Given the description of an element on the screen output the (x, y) to click on. 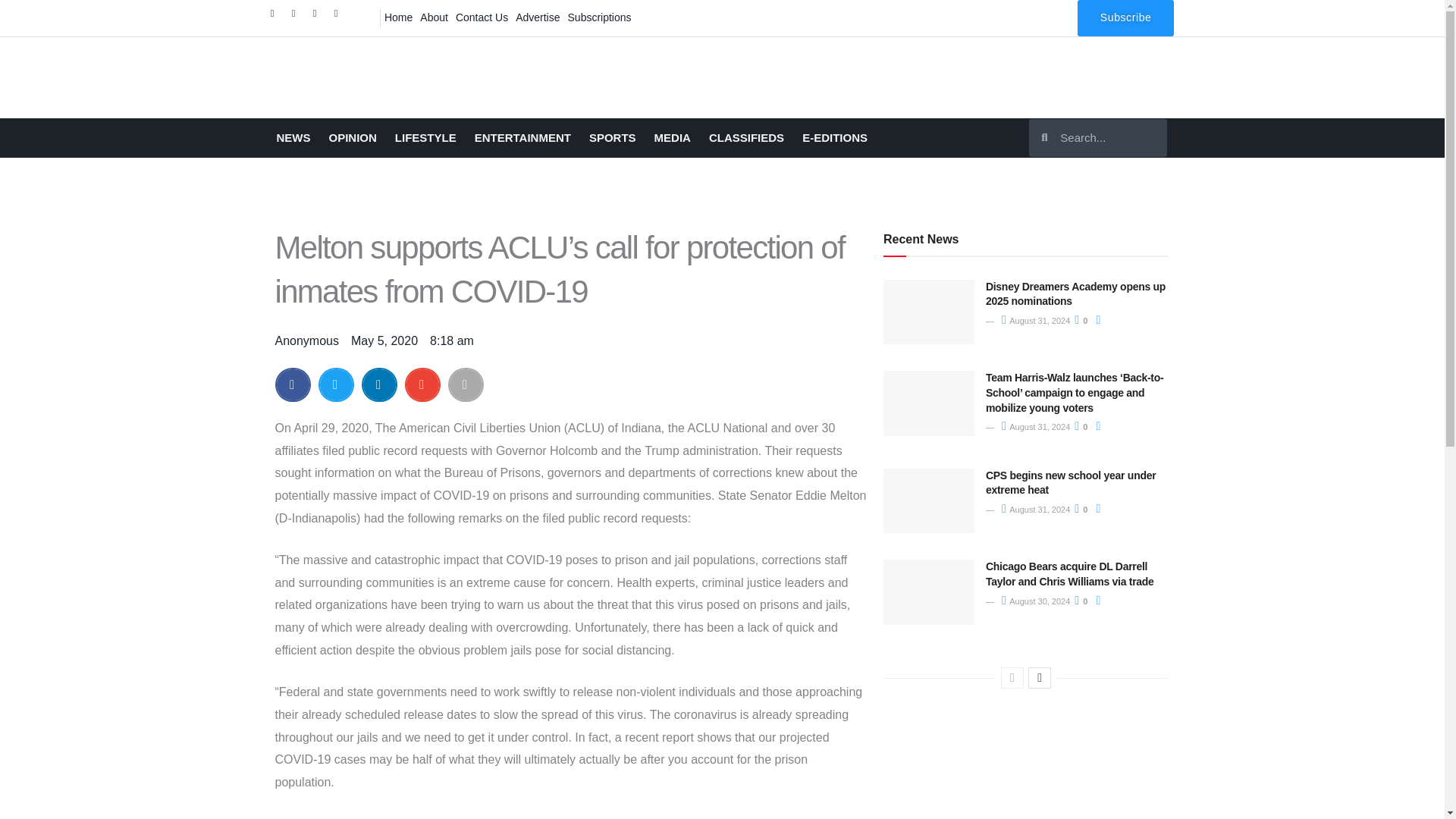
Next (1039, 677)
NEWS (292, 137)
Advertise (537, 17)
Previous (1012, 677)
OPINION (352, 137)
LIFESTYLE (425, 137)
Twitter (297, 17)
Home (398, 17)
Facebook-f (276, 17)
About (433, 17)
